Given the description of an element on the screen output the (x, y) to click on. 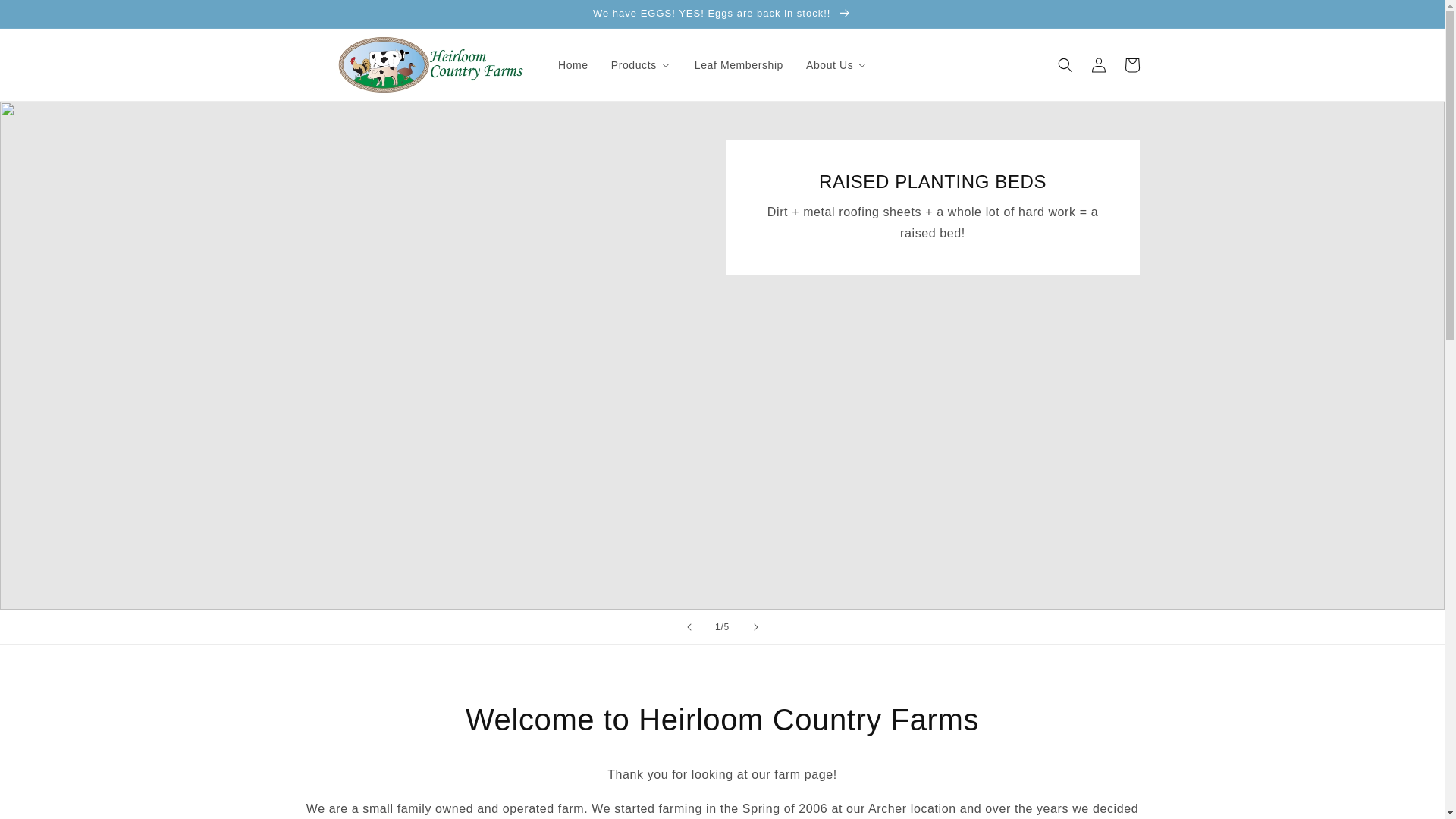
Home (572, 64)
Cart (1131, 64)
Log in (1098, 64)
Products (640, 64)
Leaf Membership (737, 64)
Skip to content (45, 17)
About Us (836, 64)
